Given the description of an element on the screen output the (x, y) to click on. 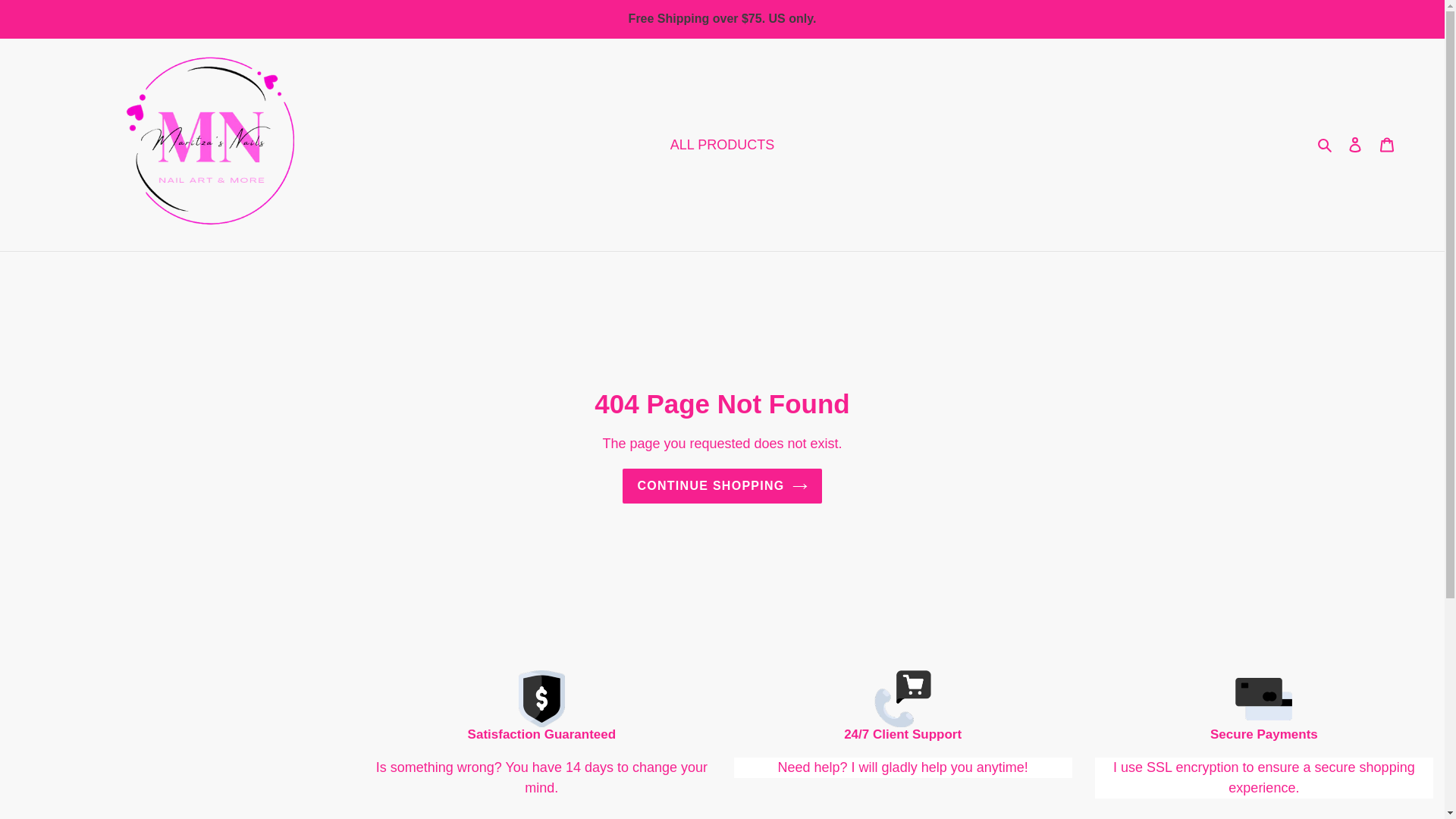
Search (1326, 144)
ALL PRODUCTS (721, 144)
Cart (1387, 144)
Log in (1355, 144)
CONTINUE SHOPPING (722, 485)
